Given the description of an element on the screen output the (x, y) to click on. 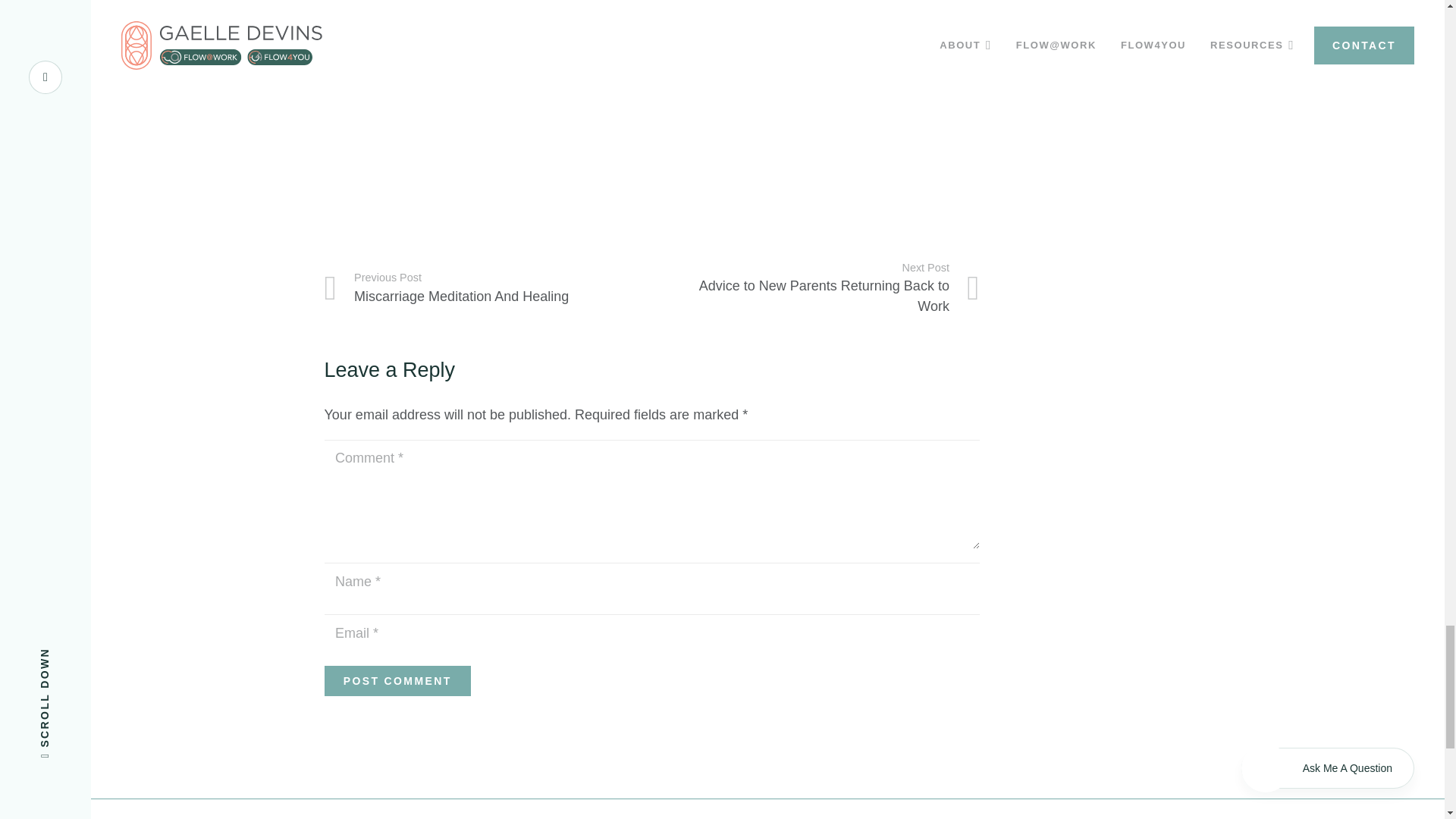
Advice to New Parents Returning Back to Work (815, 288)
Miscarriage Meditation: Find healing in hope (815, 288)
POST COMMENT (506, 106)
Miscarriage Meditation And Healing (397, 680)
